Given the description of an element on the screen output the (x, y) to click on. 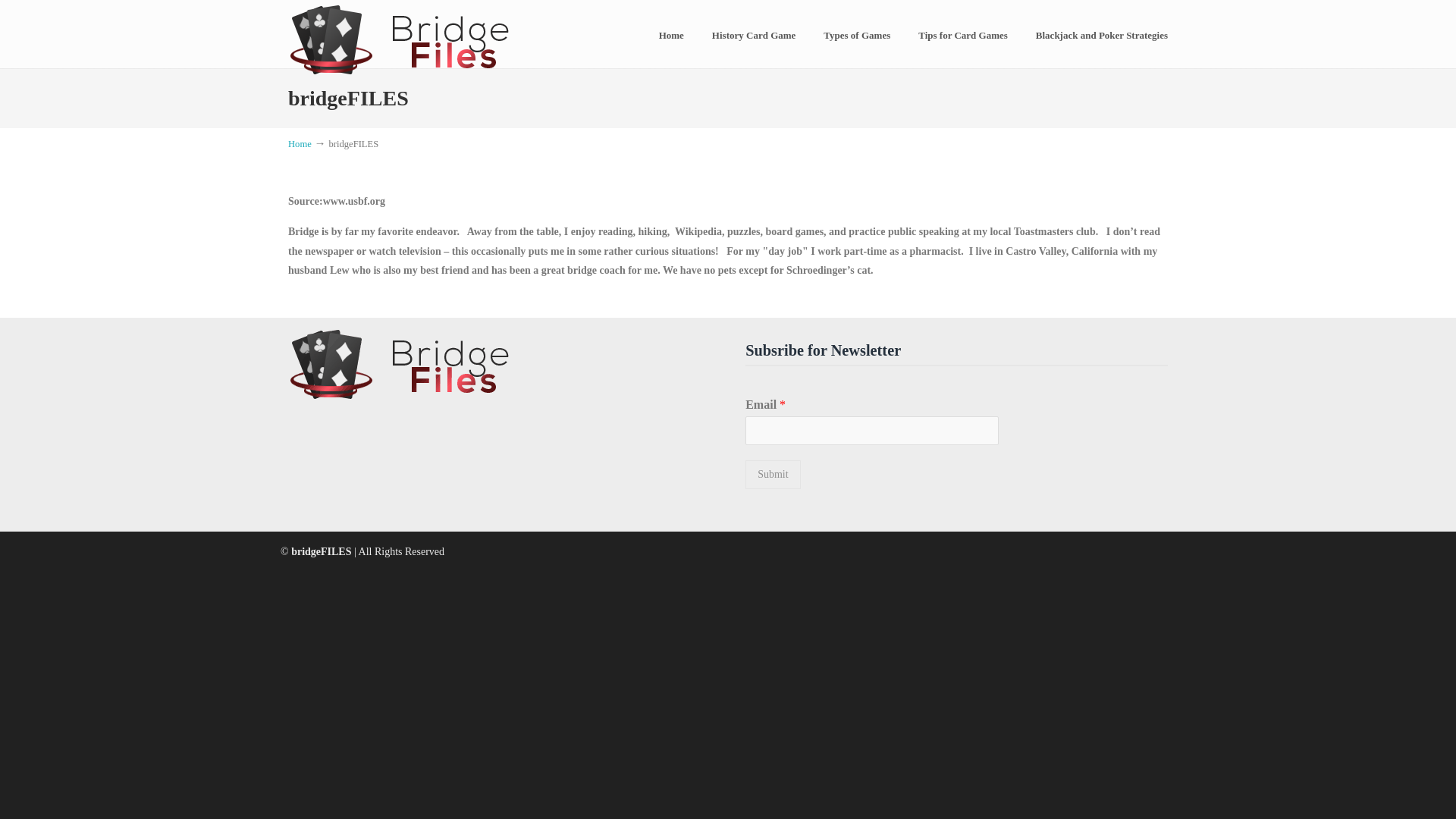
Submit (772, 474)
Types of Games (856, 35)
History Card Game (753, 35)
Great Strategies for Bridge, Poker and Blackjack Card Games (422, 37)
Tips for Card Games (962, 35)
Great Strategies for Bridge, Poker and Blackjack Card Games (422, 37)
Home (299, 143)
Home (670, 35)
Blackjack and Poker Strategies (1101, 35)
